Given the description of an element on the screen output the (x, y) to click on. 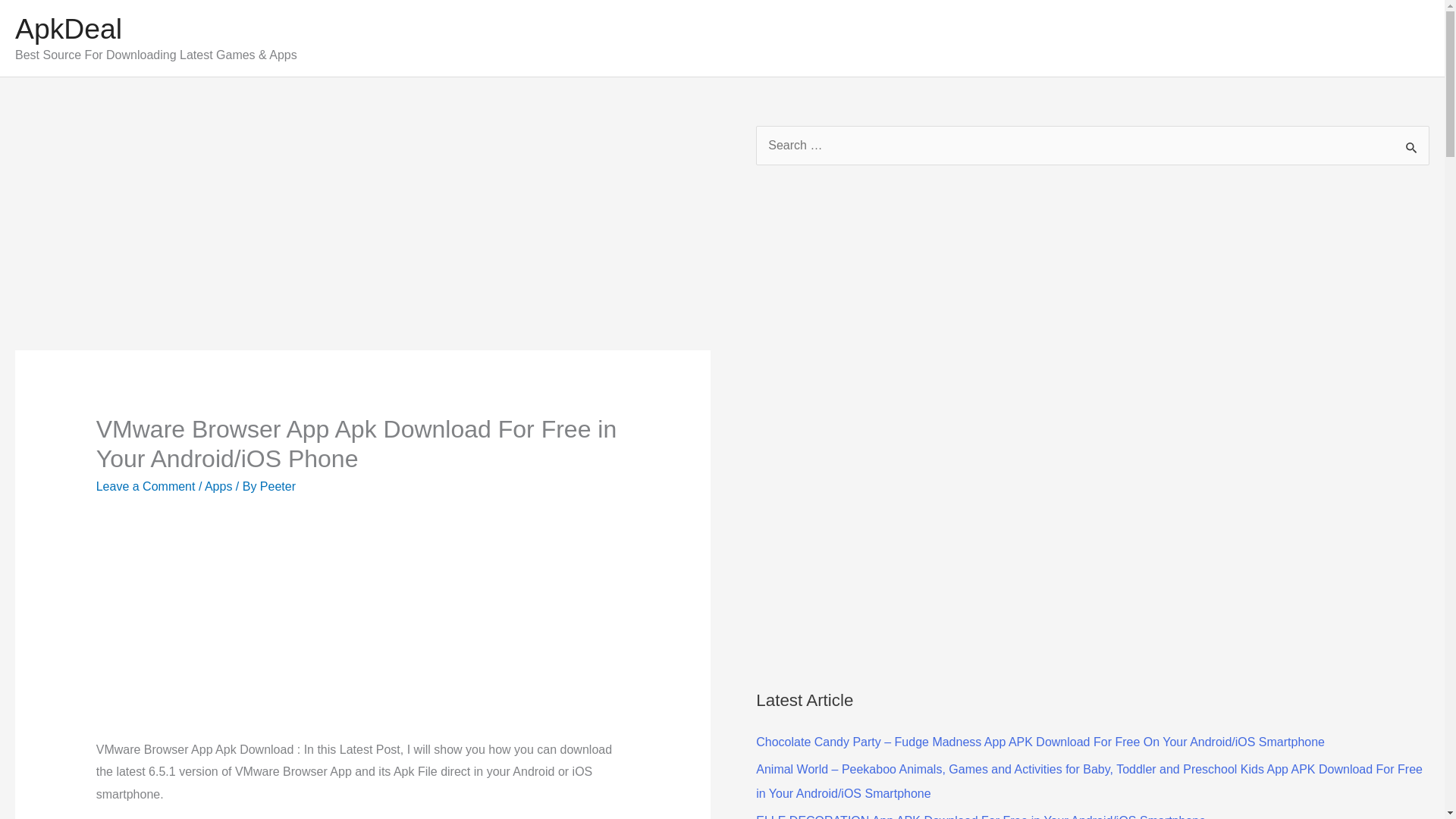
Leave a Comment (145, 486)
Apps (218, 486)
ApkDeal (68, 29)
Peeter (277, 486)
Advertisement (338, 626)
View all posts by Peeter (277, 486)
